Given the description of an element on the screen output the (x, y) to click on. 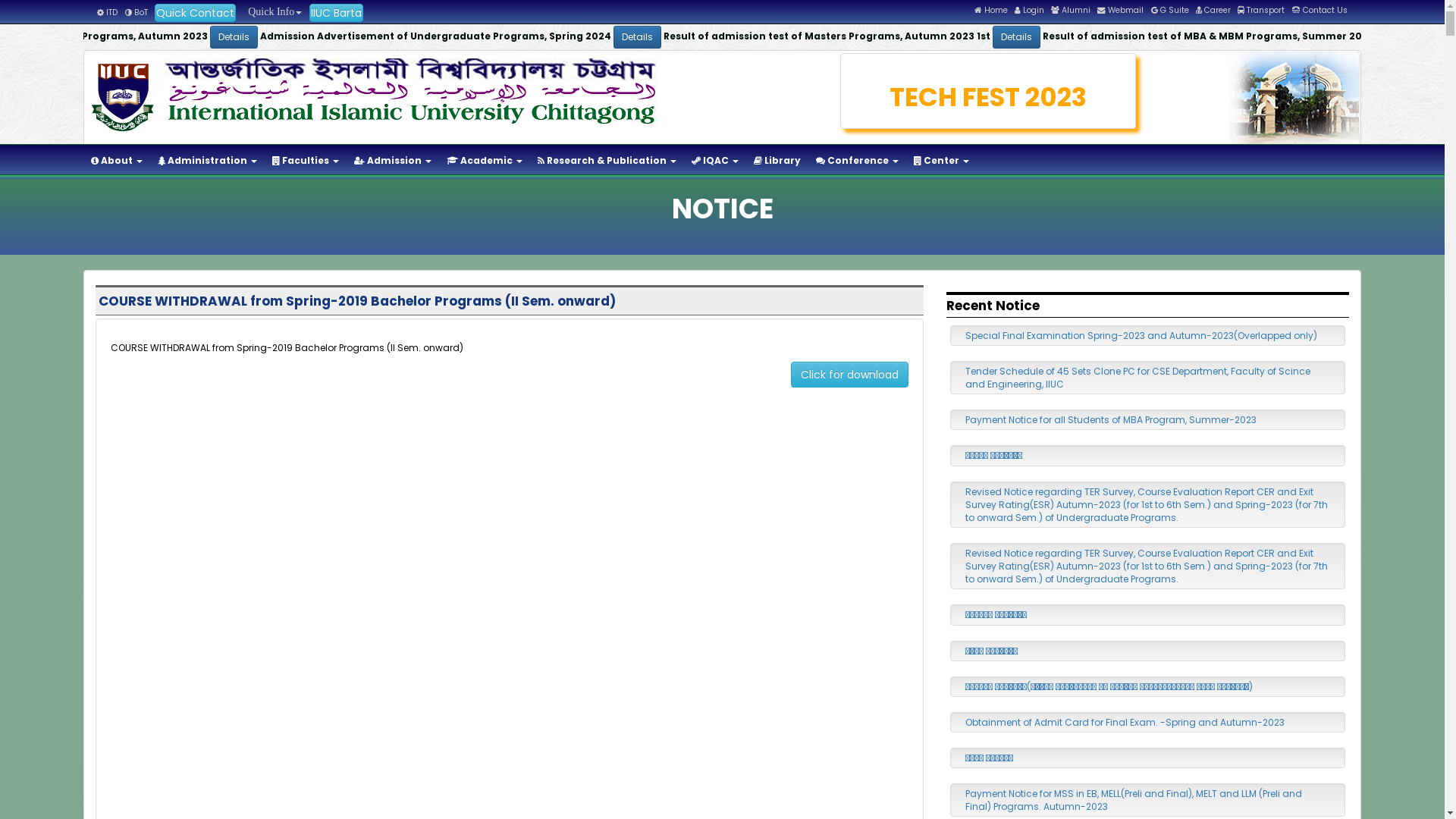
IIUC Barta Element type: text (336, 12)
Webmail Element type: text (1120, 9)
Faculties Element type: text (305, 160)
BoT Element type: text (136, 12)
Alumni Element type: text (1070, 9)
ITD Element type: text (107, 12)
Academic Element type: text (484, 160)
Career Element type: text (1212, 9)
G Suite Element type: text (1170, 9)
Admission Element type: text (392, 160)
Conference Element type: text (857, 160)
Transport Element type: text (1260, 9)
Home Element type: text (990, 9)
Login Element type: text (1029, 9)
Quick Contact Element type: text (194, 12)
TECH FEST 2023 Element type: text (988, 97)
Research & Publication Element type: text (607, 160)
Center Element type: text (941, 160)
Click for download Element type: text (849, 374)
Payment Notice for all Students of MBA Program, Summer-2023 Element type: text (1110, 419)
Administration Element type: text (207, 160)
Contact Us Element type: text (1319, 9)
About Element type: text (116, 160)
  Quick Info Element type: text (271, 11)
Library Element type: text (777, 160)
IQAC Element type: text (715, 160)
Details Element type: text (1047, 36)
